Given the description of an element on the screen output the (x, y) to click on. 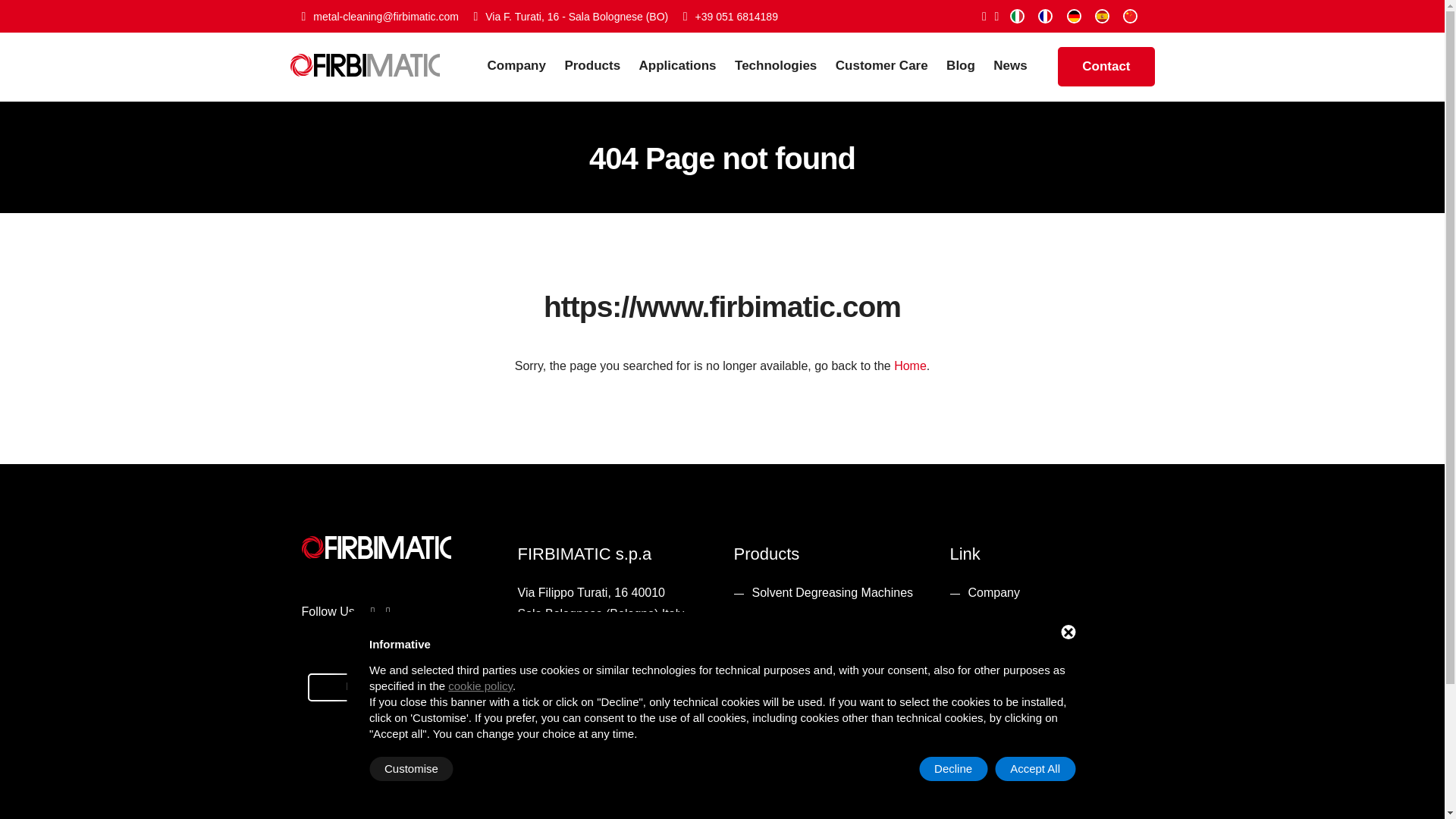
Applications (685, 66)
Applications (685, 66)
Chiama (729, 16)
Headquarters (570, 16)
Technologies (783, 66)
Customer Care (889, 66)
Company (523, 66)
Products (599, 66)
Contact (1106, 66)
Firbimatic Spa Home (364, 54)
